Given the description of an element on the screen output the (x, y) to click on. 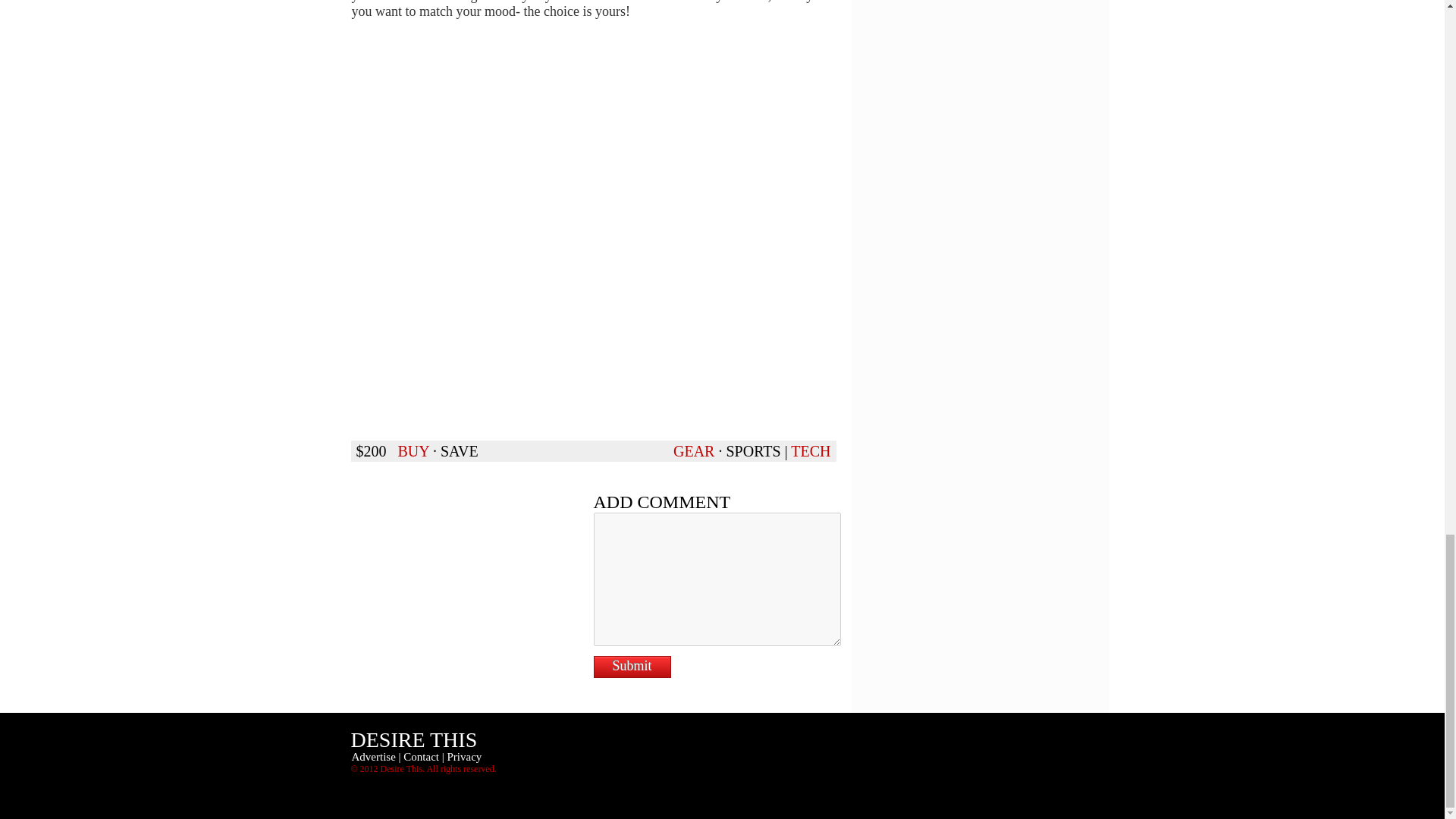
TECH (809, 451)
BUY (412, 451)
Desire This - Tech (809, 451)
Desire This - Gear - Sports (752, 451)
Save (460, 451)
Submit (630, 667)
Desire This - Gear (693, 451)
GEAR (693, 451)
SAVE (460, 451)
SPORTS (752, 451)
